Given the description of an element on the screen output the (x, y) to click on. 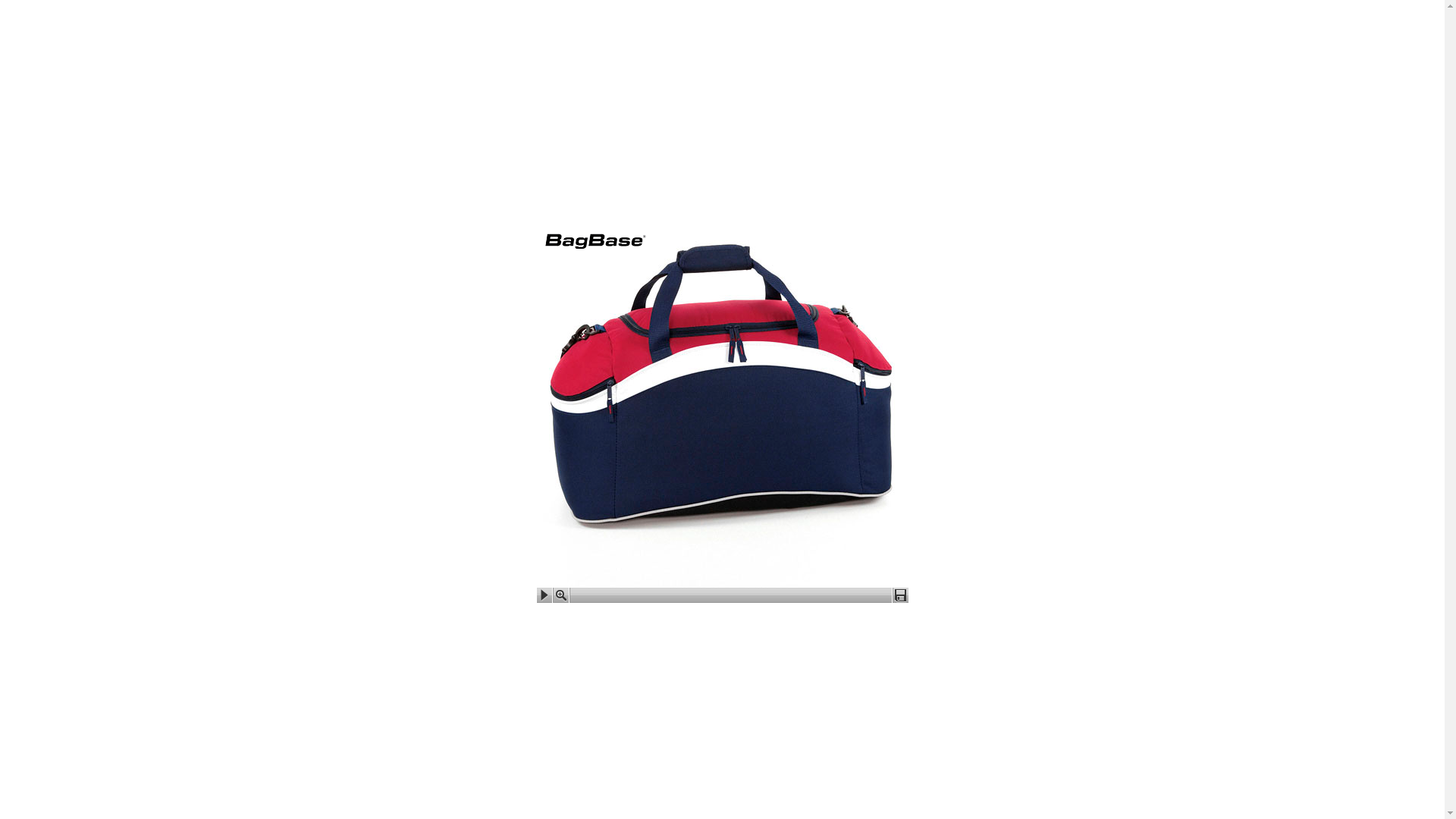
BagBase Element type: text (595, 240)
Zoom Element type: text (561, 594)
Play Element type: text (544, 594)
Download Element type: text (899, 594)
